Given the description of an element on the screen output the (x, y) to click on. 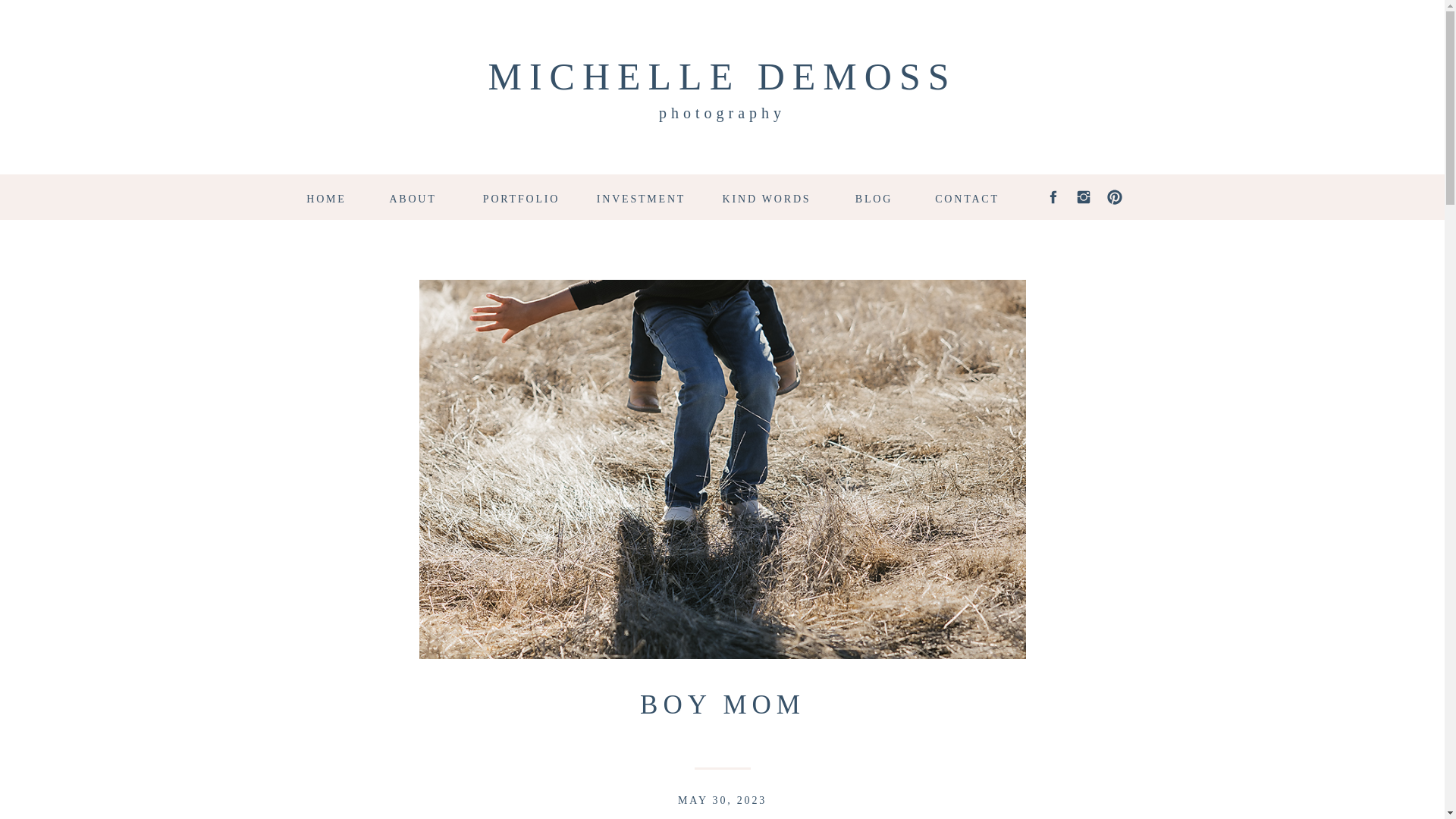
ABOUT (411, 196)
INVESTMENT (641, 196)
CONTACT (968, 196)
BLOG (874, 196)
HOME (325, 196)
PORTFOLIO (521, 196)
KIND WORDS (767, 196)
